Given the description of an element on the screen output the (x, y) to click on. 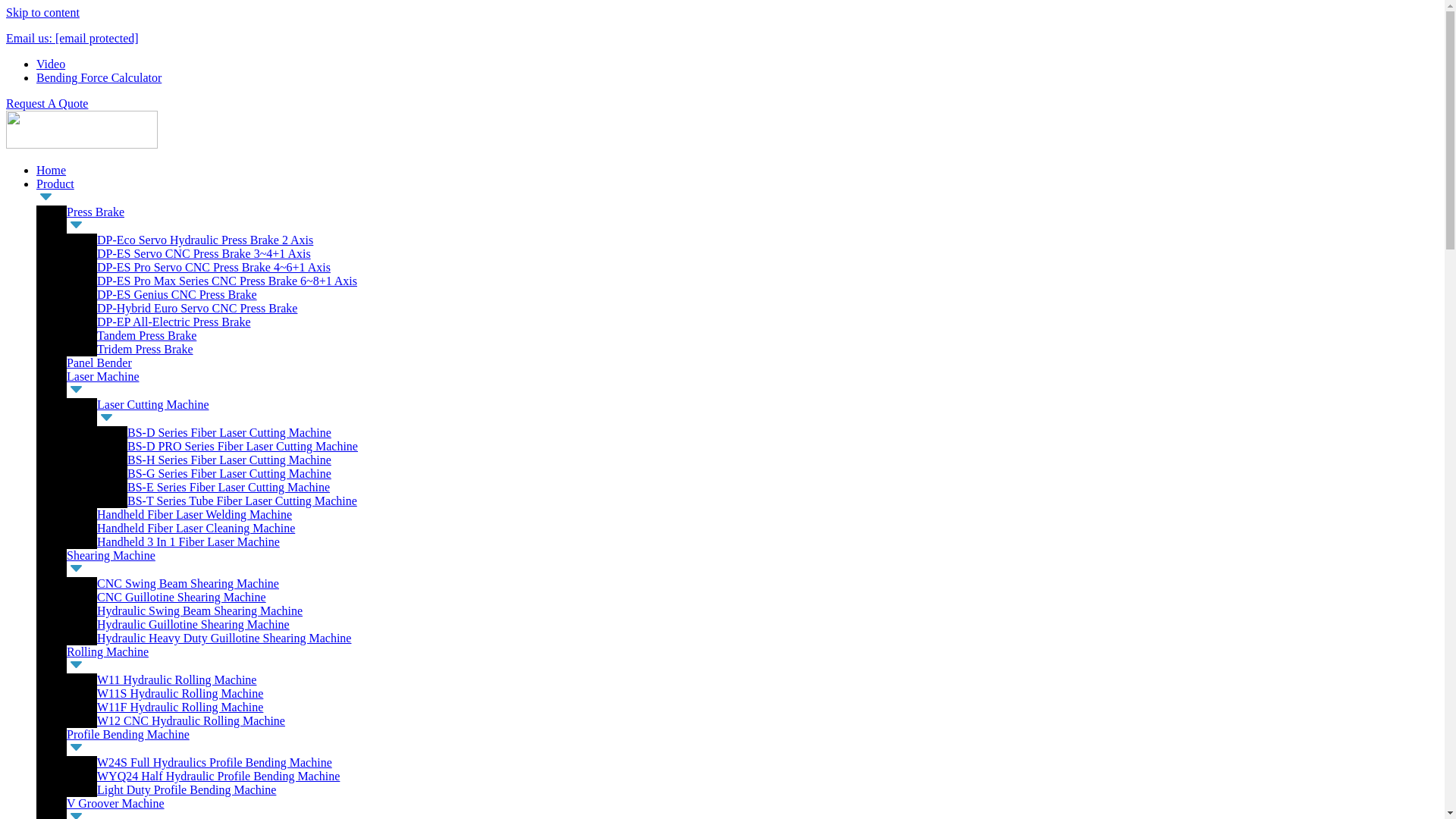
BS-G Series Fiber Laser Cutting Machine (229, 472)
Handheld Fiber Laser Welding Machine (194, 513)
BS-T Series Tube Fiber Laser Cutting Machine (242, 500)
W11 Hydraulic Rolling Machine (176, 679)
CNC Guillotine Shearing Machine (181, 596)
Handheld 3 In 1 Fiber Laser Machine (188, 541)
BS-H Series Fiber Laser Cutting Machine (229, 459)
Laser Machine (102, 376)
CNC Swing Beam Shearing Machine (188, 583)
DP-Hybrid Euro Servo CNC Press Brake (197, 308)
